Given the description of an element on the screen output the (x, y) to click on. 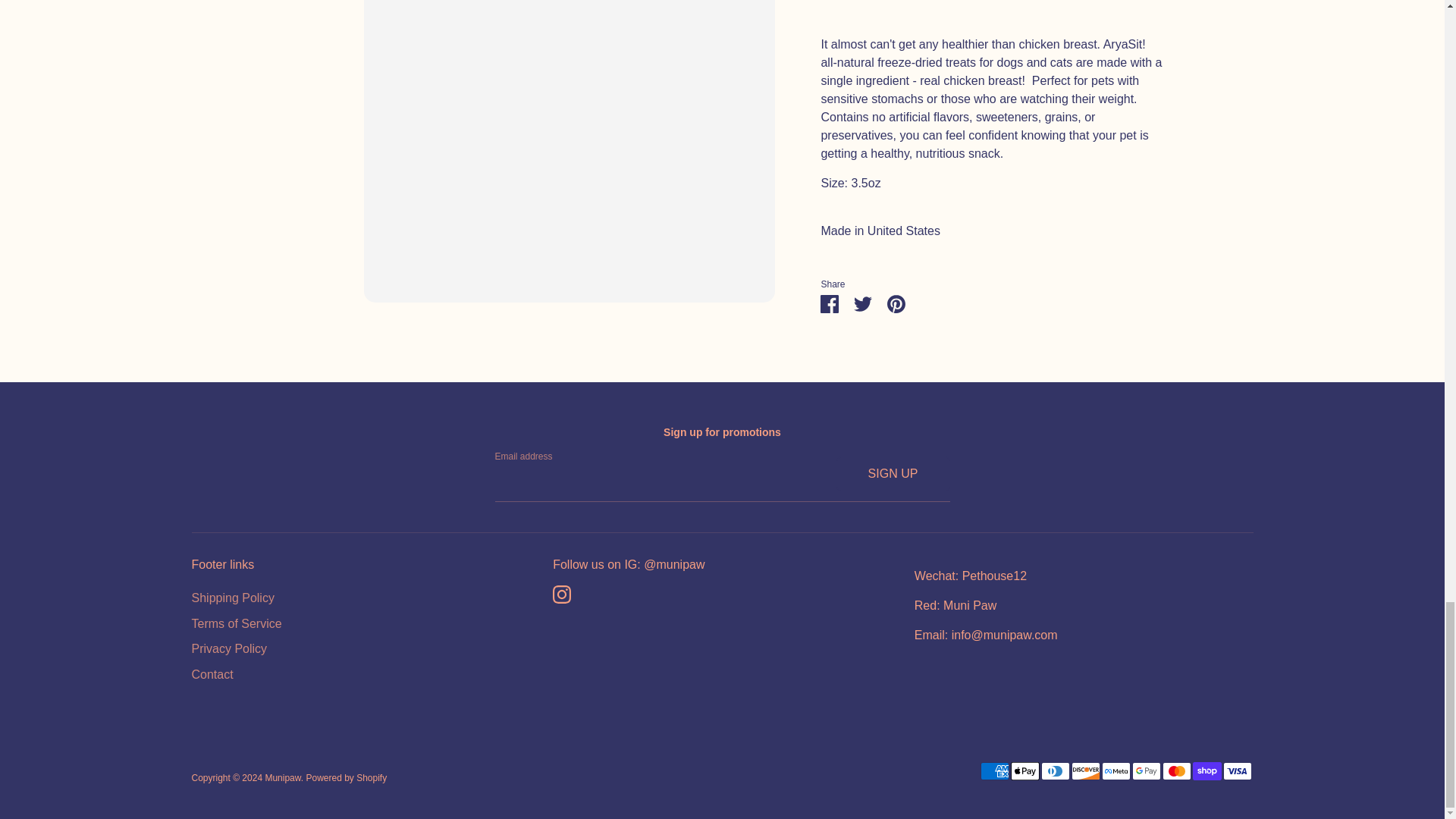
Google Pay (1145, 771)
Discover (1084, 771)
Apple Pay (1024, 771)
Diners Club (1054, 771)
American Express (994, 771)
Meta Pay (1114, 771)
